Given the description of an element on the screen output the (x, y) to click on. 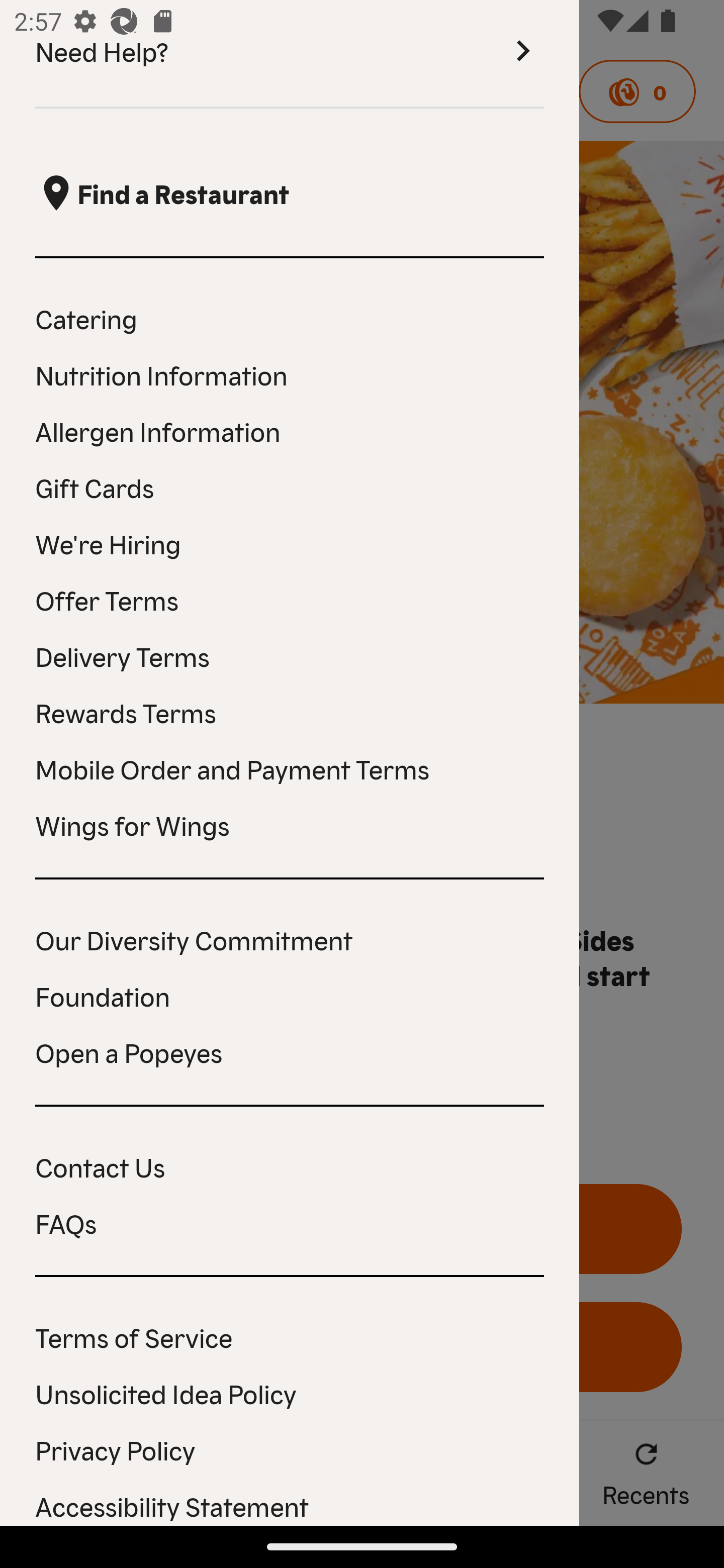
Need Help? Need Help?  (289, 54)
, Find a Restaurant  Find a Restaurant (289, 193)
Catering (289, 318)
Nutrition Information (289, 374)
Allergen Information (289, 430)
Gift Cards (289, 486)
We're Hiring (289, 543)
Offer Terms (289, 599)
Delivery Terms (289, 655)
Rewards Terms (289, 711)
Mobile Order and Payment Terms (289, 768)
Wings for Wings (289, 824)
Our Diversity Commitment (289, 938)
Foundation (289, 995)
Open a Popeyes (289, 1051)
Contact Us (289, 1166)
FAQs (289, 1222)
Terms of Service (289, 1336)
Unsolicited Idea Policy (289, 1393)
Privacy Policy (289, 1449)
Accessibility Statement (289, 1505)
